Given the description of an element on the screen output the (x, y) to click on. 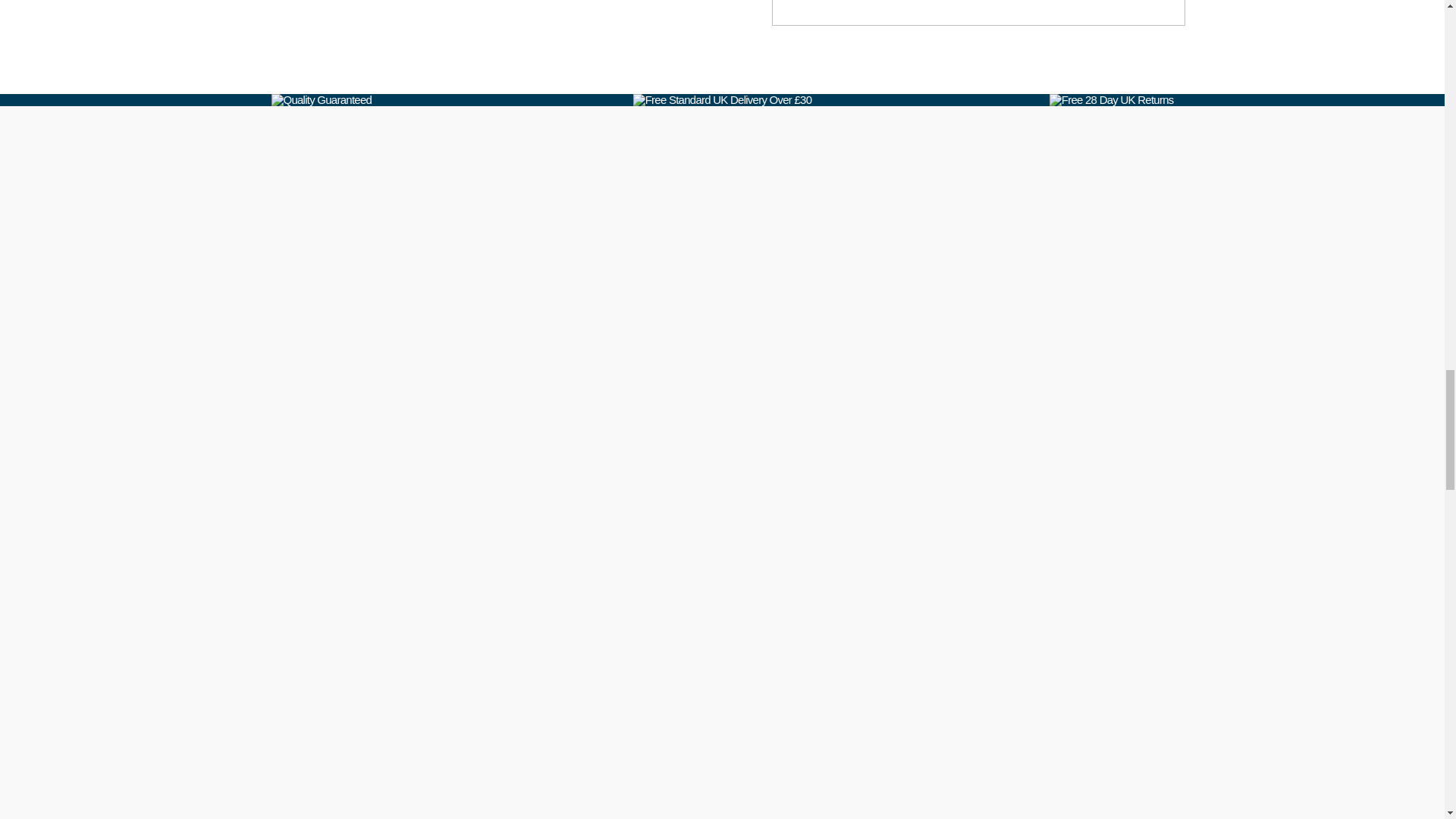
Shipping Policy (728, 99)
Refund Policy (1117, 99)
Quality Gurantee (327, 99)
